Given the description of an element on the screen output the (x, y) to click on. 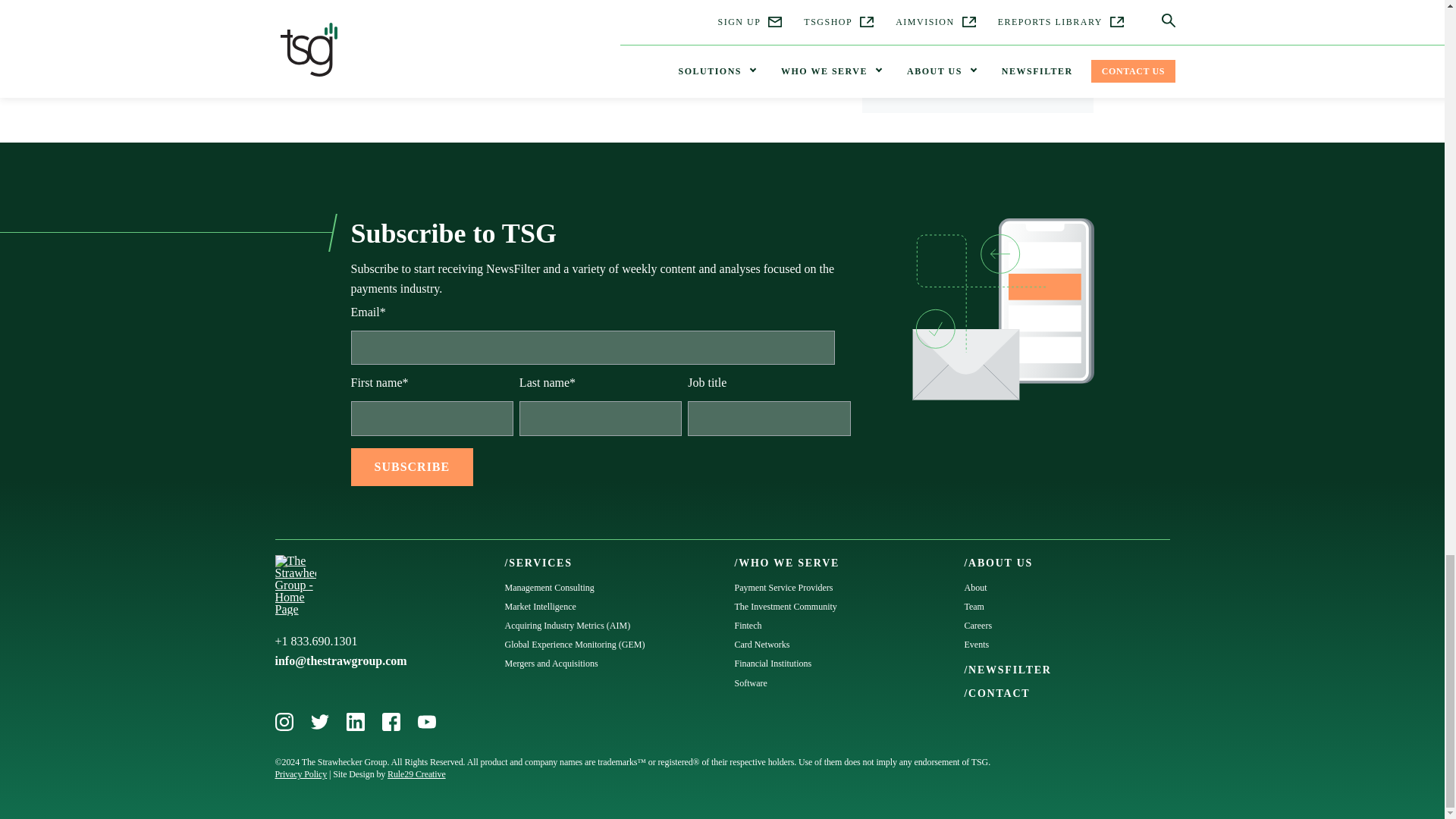
Subscribe (411, 466)
